Given the description of an element on the screen output the (x, y) to click on. 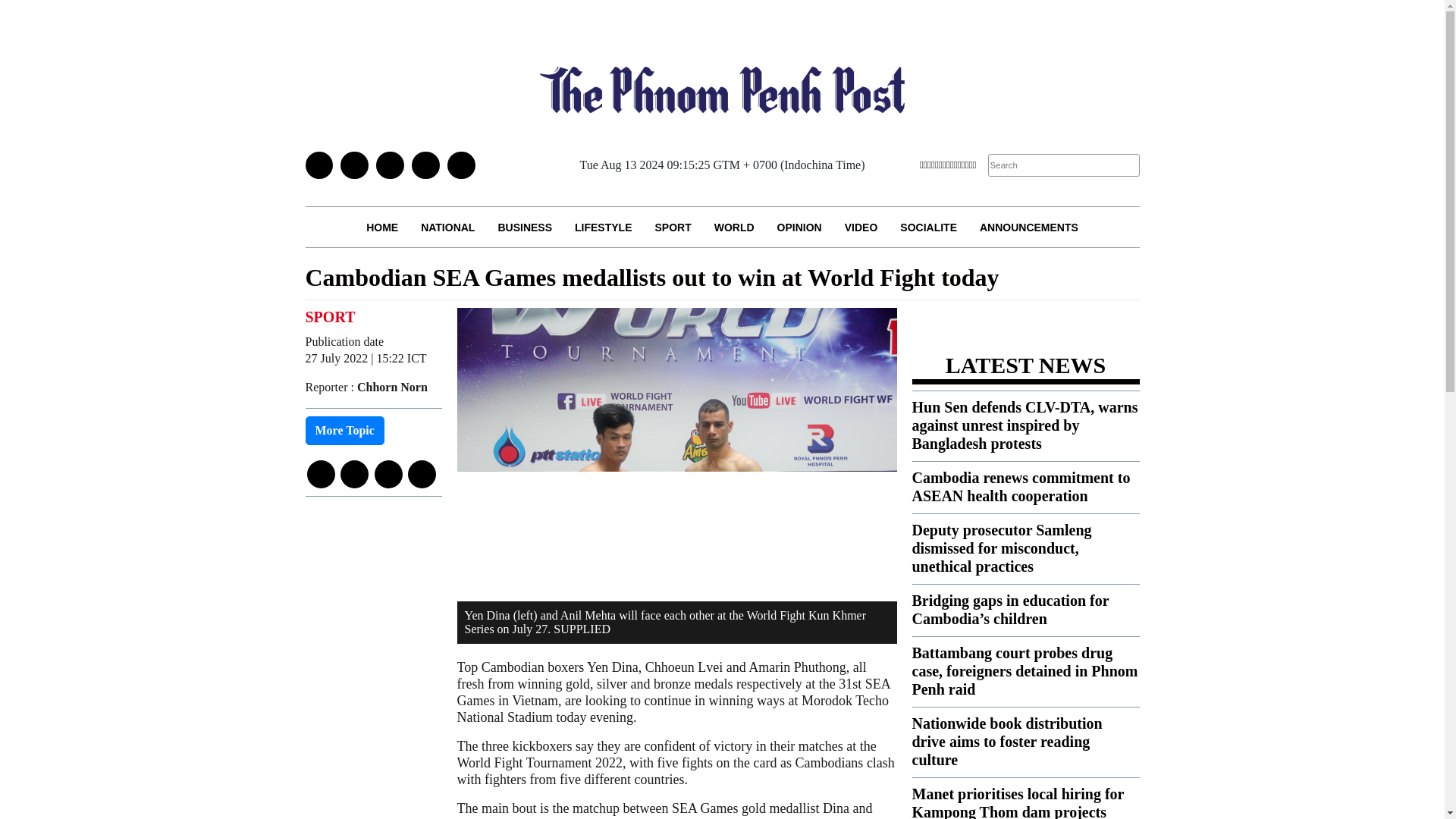
SOCIALITE (928, 227)
HOME (382, 227)
ANNOUNCEMENTS (1028, 227)
NATIONAL (447, 227)
VIDEO (860, 227)
More Topic (344, 430)
BUSINESS (524, 227)
OPINION (798, 227)
